Given the description of an element on the screen output the (x, y) to click on. 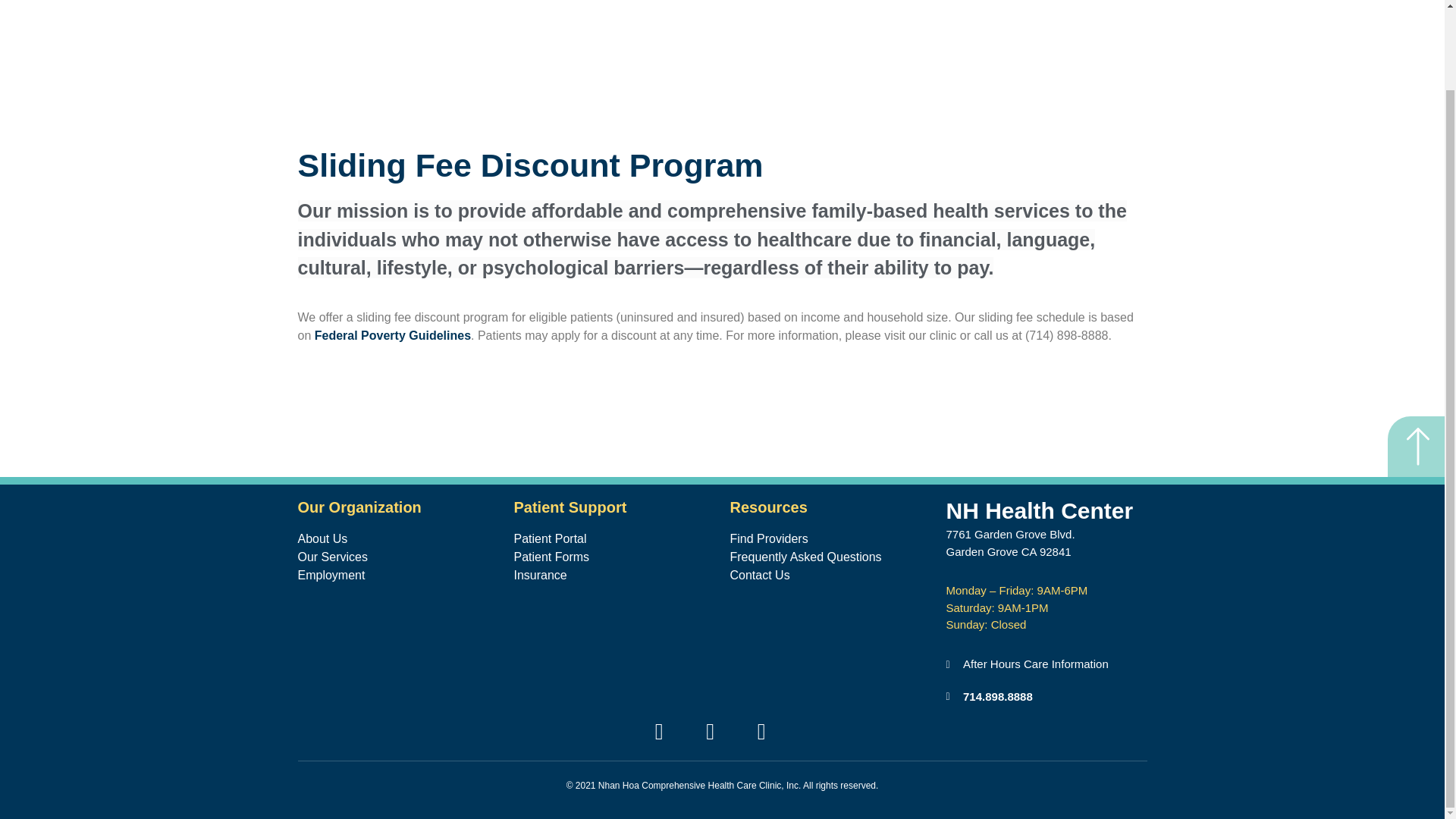
After Hours Care Information (1046, 664)
Our Services (397, 556)
NH Health Center (1040, 510)
Contact Us (829, 575)
Frequently Asked Questions (829, 556)
Federal Poverty Guidelines (392, 335)
Employment (397, 575)
Patient Forms (613, 556)
Insurance (613, 575)
Patient Portal (613, 538)
About Us (397, 538)
